Given the description of an element on the screen output the (x, y) to click on. 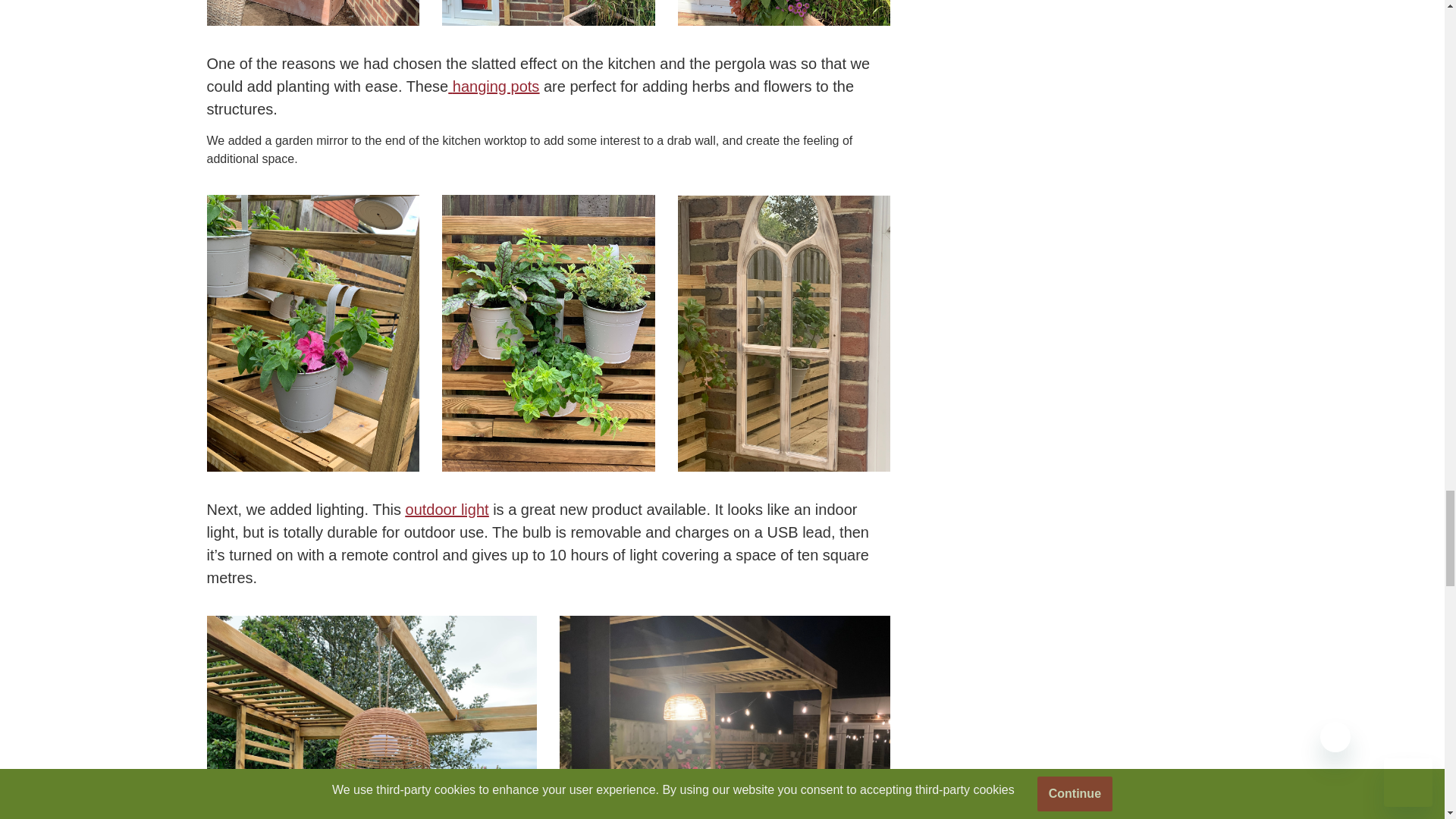
Planters mounted on the wall (548, 13)
The living wall in bloom (784, 13)
Bamboo (312, 13)
The Bossa 20 hanging lantern (371, 717)
The lantern at night (724, 717)
